Given the description of an element on the screen output the (x, y) to click on. 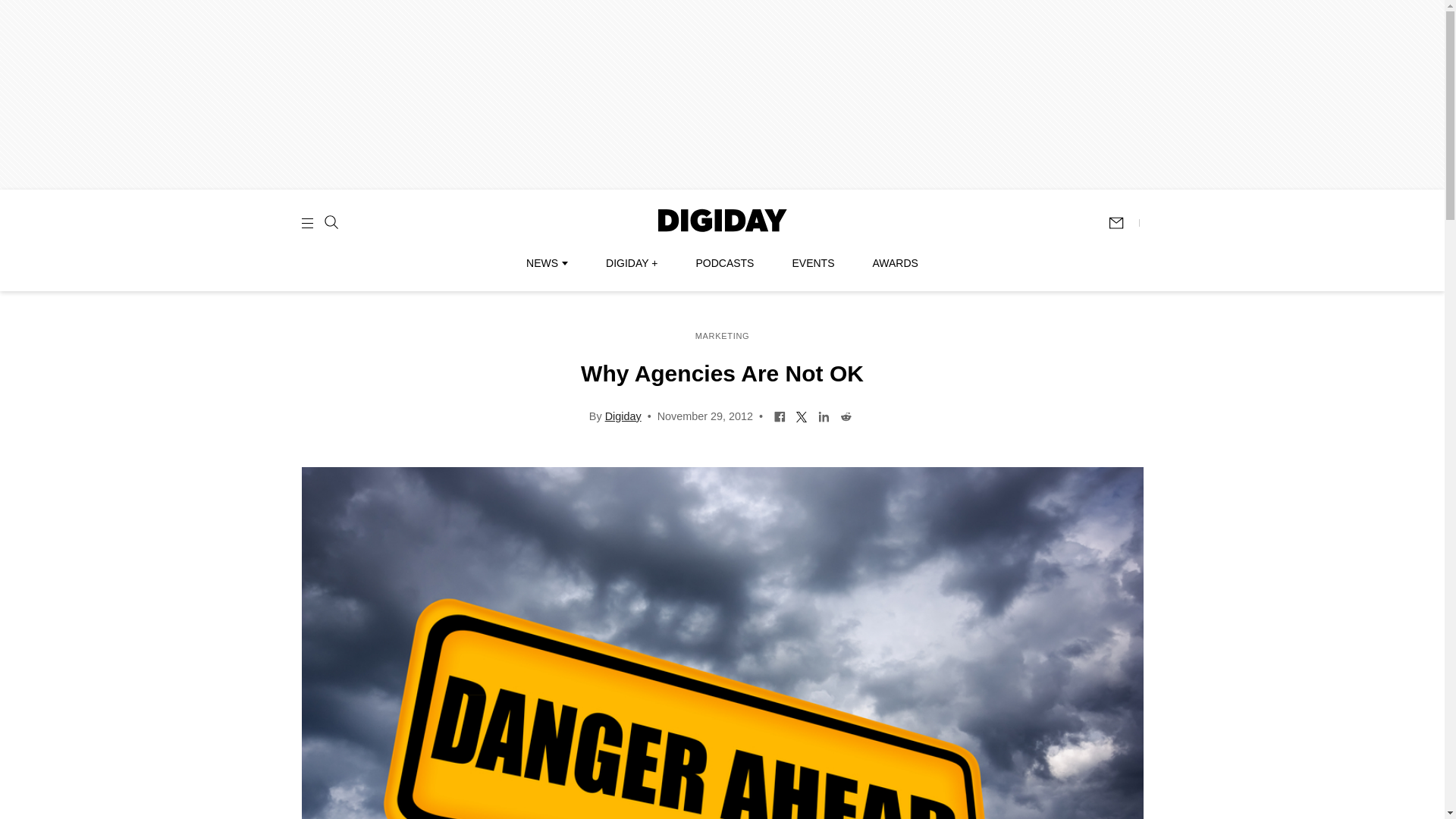
PODCASTS (725, 262)
Share on LinkedIn (822, 415)
Share on Facebook (779, 415)
NEWS (546, 262)
AWARDS (894, 262)
Share on Twitter (801, 415)
EVENTS (813, 262)
Share on Reddit (845, 415)
Subscribe (1123, 223)
